Given the description of an element on the screen output the (x, y) to click on. 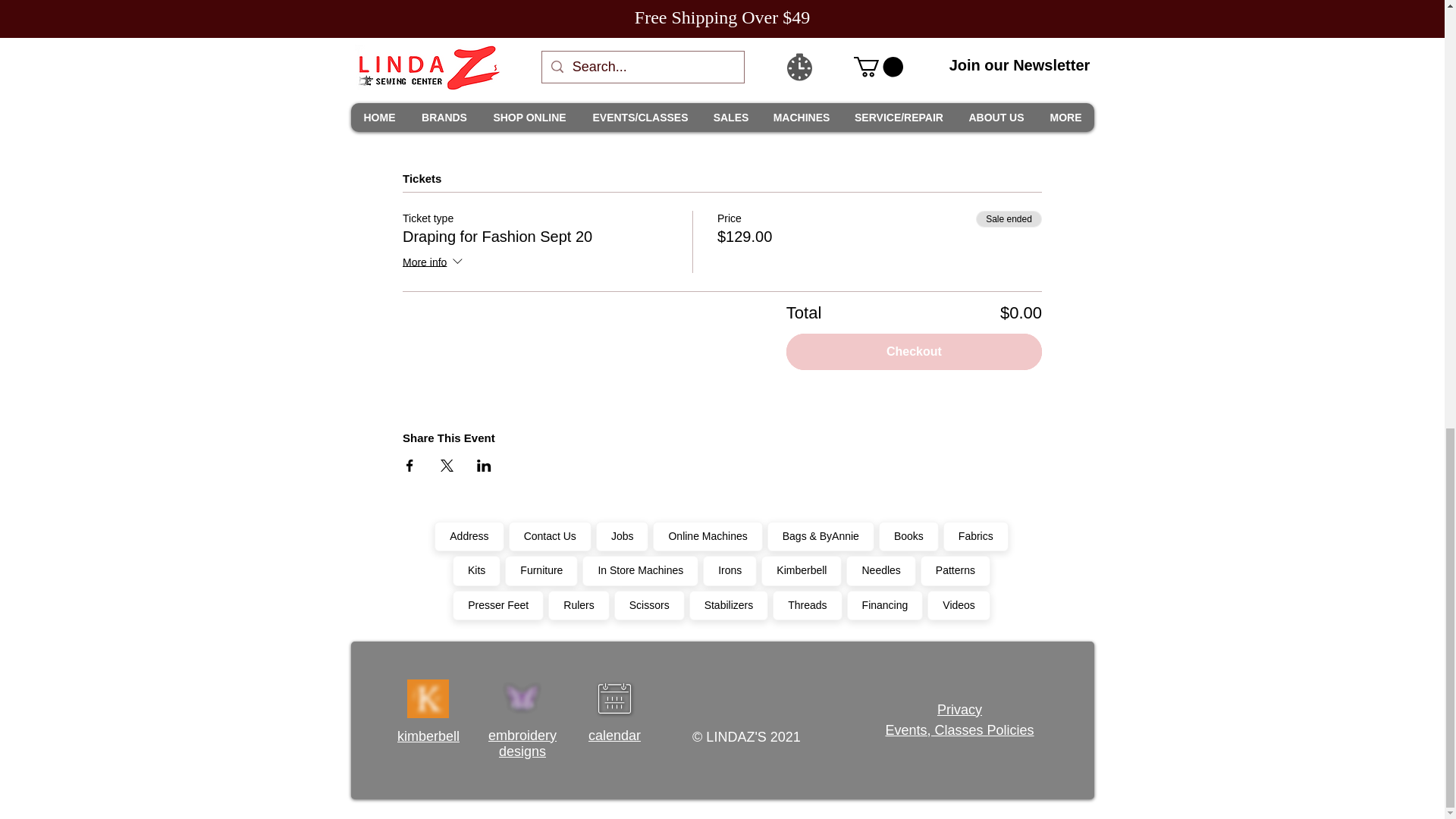
More info (434, 262)
